Given the description of an element on the screen output the (x, y) to click on. 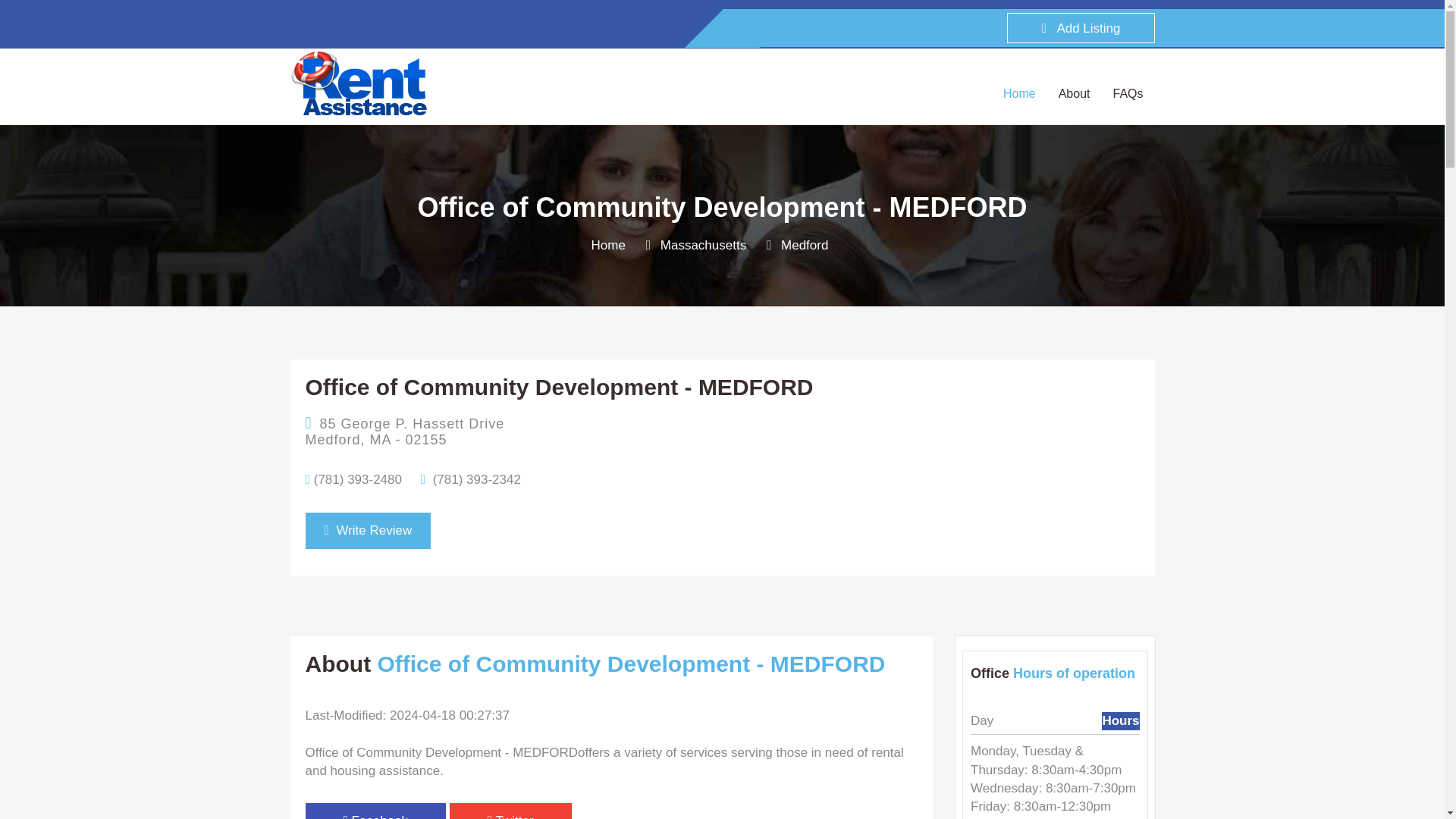
Write Review (367, 530)
Home (608, 245)
Facebook (374, 811)
Add Listing (1080, 28)
Medford (804, 245)
Massachusetts (703, 245)
Twitter (510, 811)
